Given the description of an element on the screen output the (x, y) to click on. 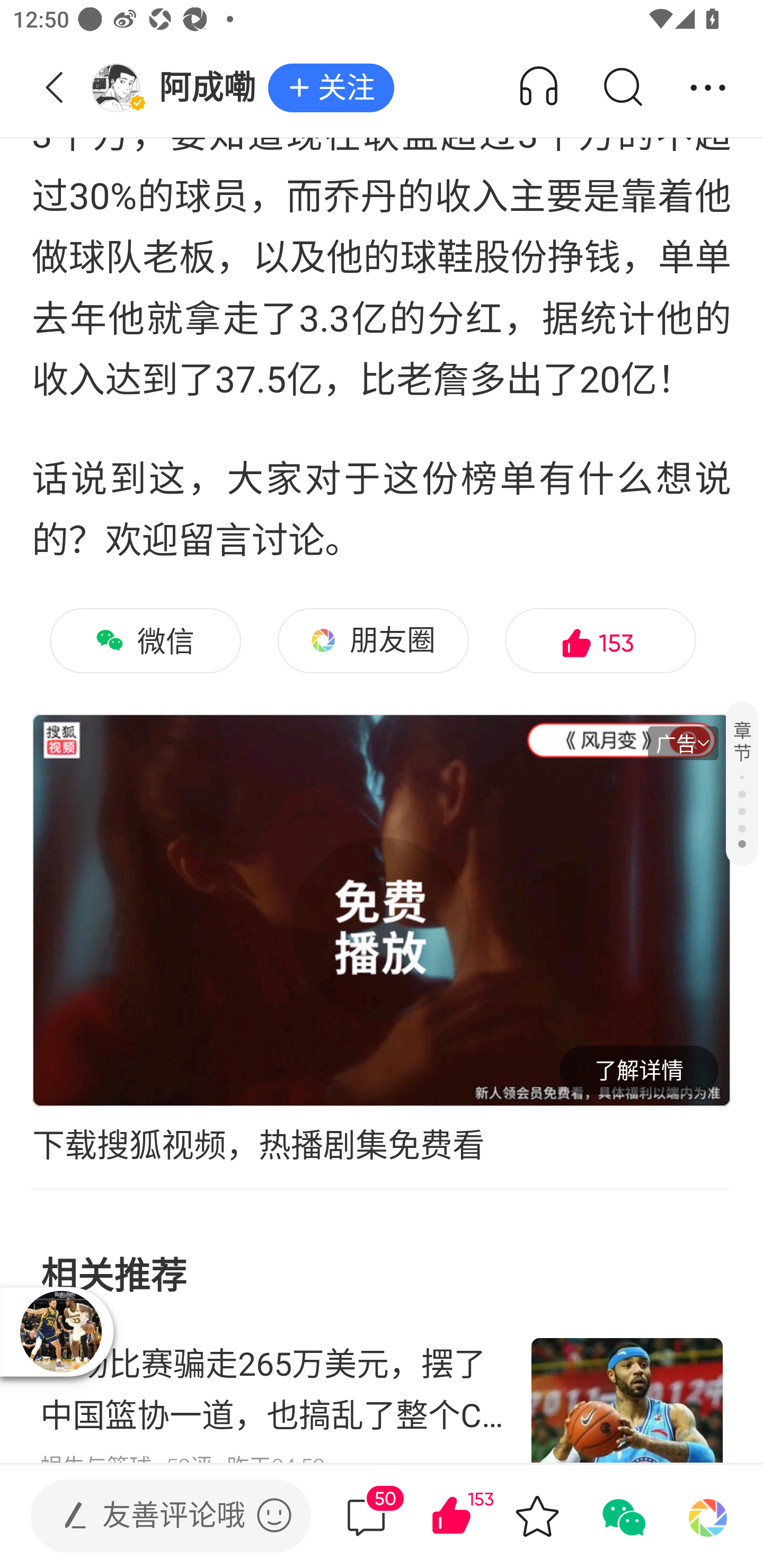
阿成嘞 (179, 87)
搜索  (622, 87)
分享  (707, 87)
 返回 (54, 87)
 关注 (330, 88)
微信 分享到微信 (145, 640)
朋友圈 分享到朋友圈 (373, 640)
已赞 (600, 640)
章节 (741, 782)
广告 (682, 742)
了解详情 (638, 1069)
下载搜狐视频，热播剧集免费看 (381, 1146)
播放器 (60, 1331)
12场比赛骗走265万美元，摆了中国篮协一道，也搞乱了整个CBA 蜗牛与篮球 58评 昨天04:53 (381, 1390)
发表评论  友善评论哦 发表评论  (155, 1516)
50评论  50 评论 (365, 1516)
已赞 (476, 1516)
收藏  (536, 1516)
分享到微信  (622, 1516)
分享到朋友圈 (707, 1516)
 (274, 1515)
